Given the description of an element on the screen output the (x, y) to click on. 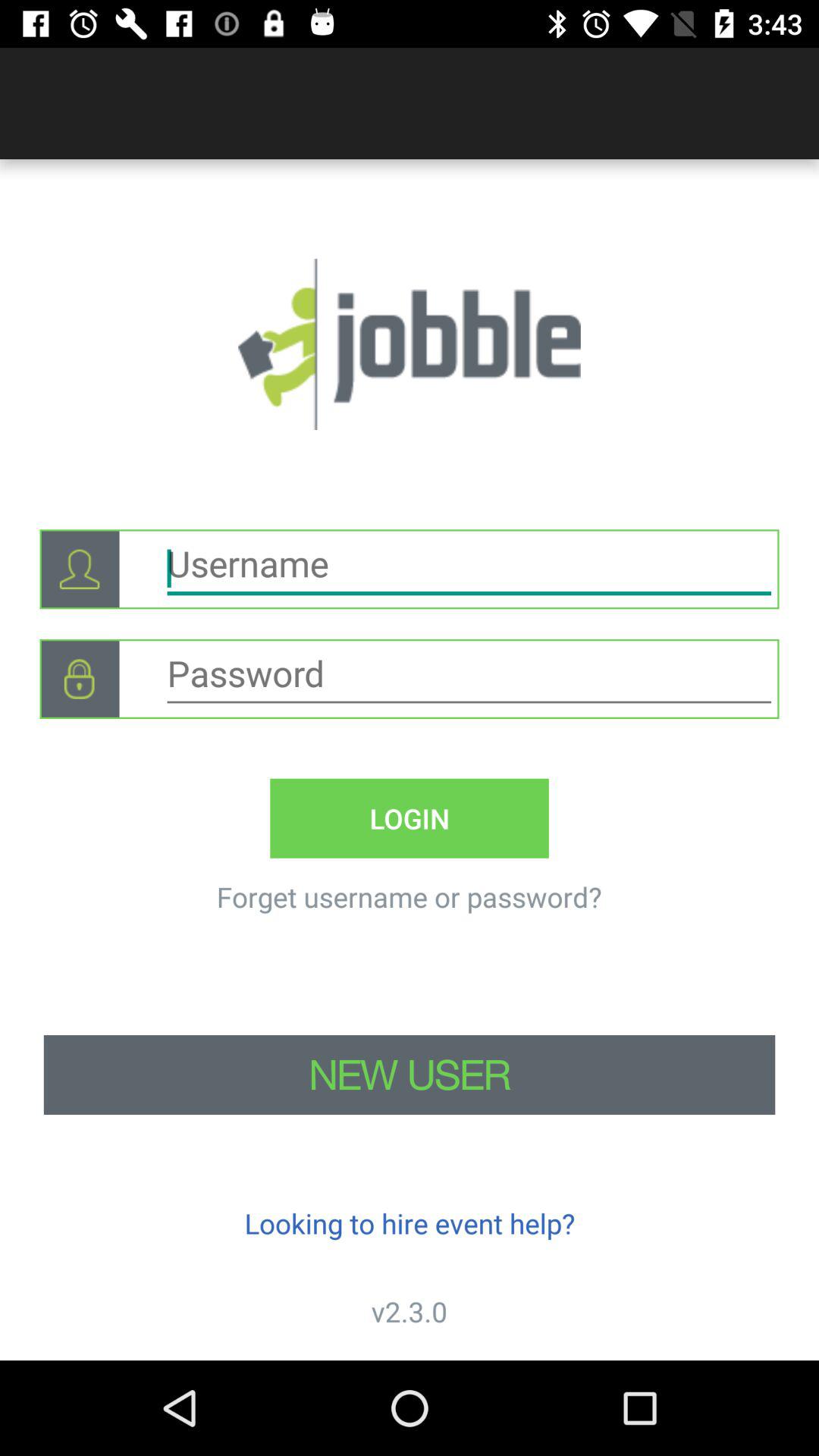
press the forget username or icon (408, 896)
